Given the description of an element on the screen output the (x, y) to click on. 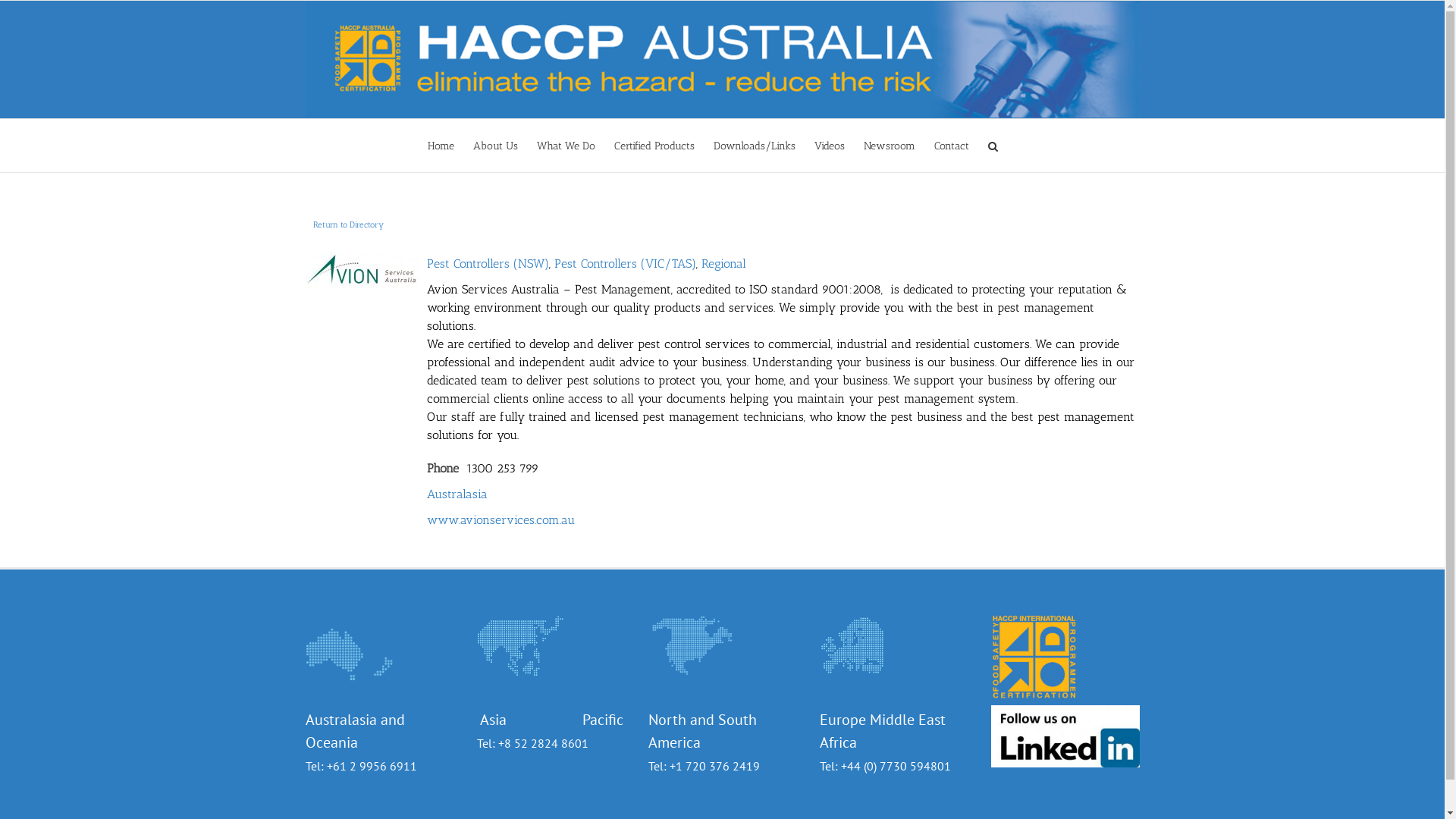
Australasia Element type: text (456, 493)
Avion Services Australia Element type: hover (361, 270)
Regional Element type: text (722, 263)
What We Do Element type: text (565, 145)
Certified Products Element type: text (654, 145)
Pacific Element type: text (602, 719)
 Asia                     Element type: text (528, 719)
Videos Element type: text (829, 145)
Newsroom Element type: text (889, 145)
Home Element type: text (440, 145)
North and South America Element type: text (701, 730)
www.avionservices.com.au Element type: text (500, 519)
Search Element type: hover (992, 145)
Downloads/Links Element type: text (754, 145)
Pest Controllers (VIC/TAS) Element type: text (624, 263)
Pest Controllers (NSW) Element type: text (487, 263)
Australasia and Oceania Element type: text (354, 730)
About Us Element type: text (495, 145)
Europe Middle East Africa Element type: text (881, 730)
Contact Element type: text (951, 145)
Return to Directory Element type: text (347, 224)
